Given the description of an element on the screen output the (x, y) to click on. 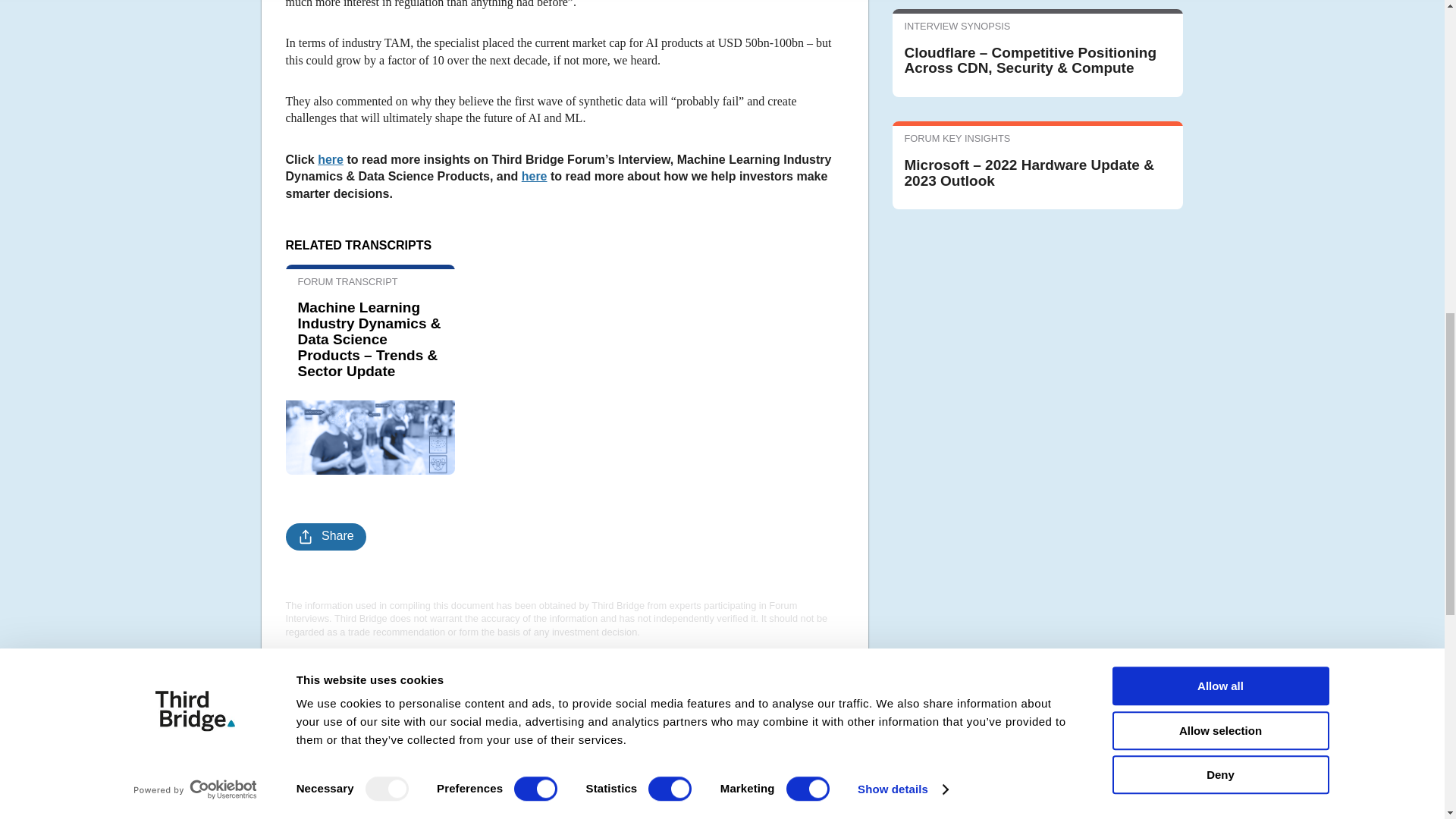
Share this article (325, 536)
